Given the description of an element on the screen output the (x, y) to click on. 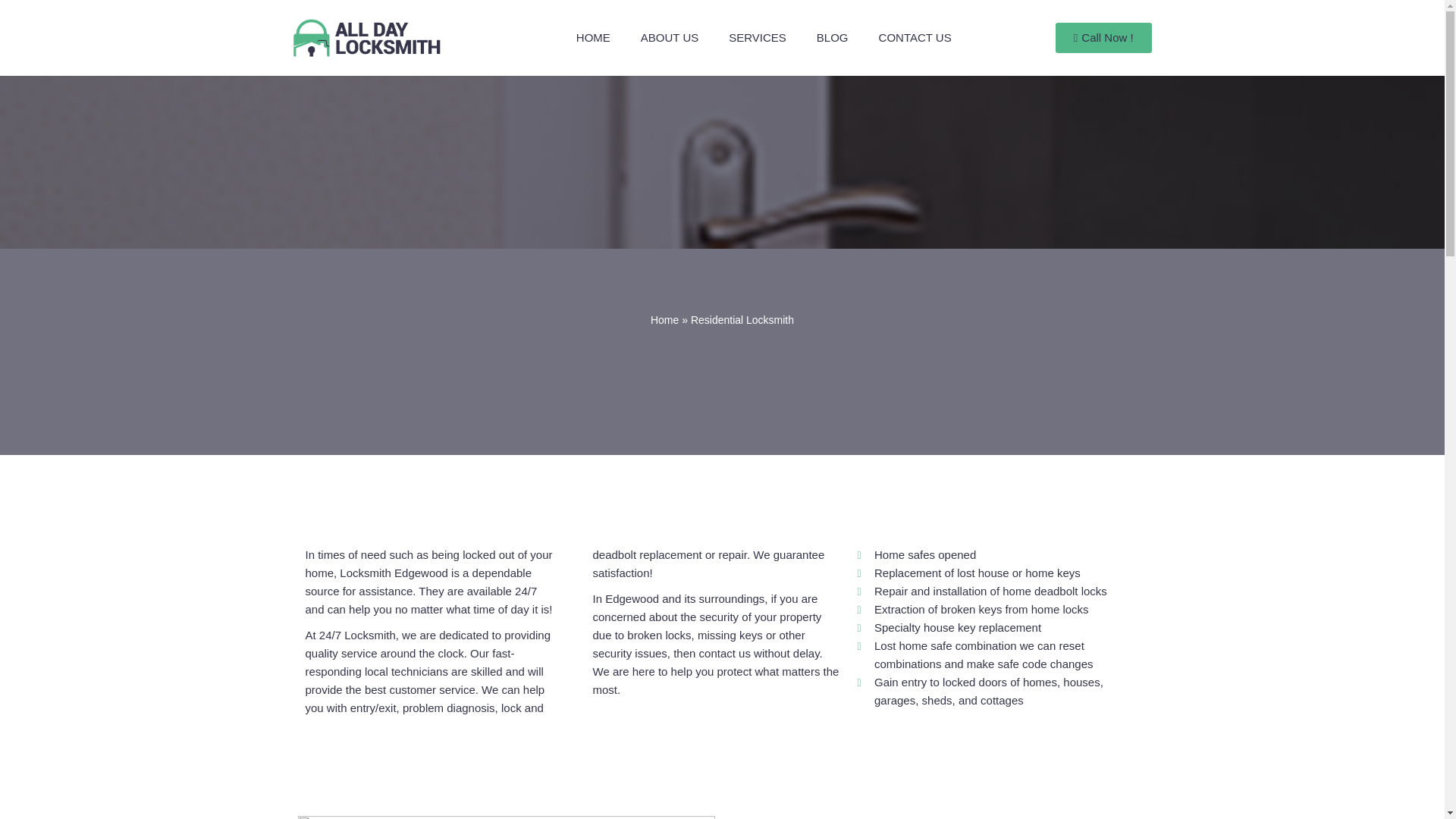
ABOUT US (669, 38)
CONTACT US (914, 38)
Call Now ! (1103, 37)
SERVICES (757, 38)
